Given the description of an element on the screen output the (x, y) to click on. 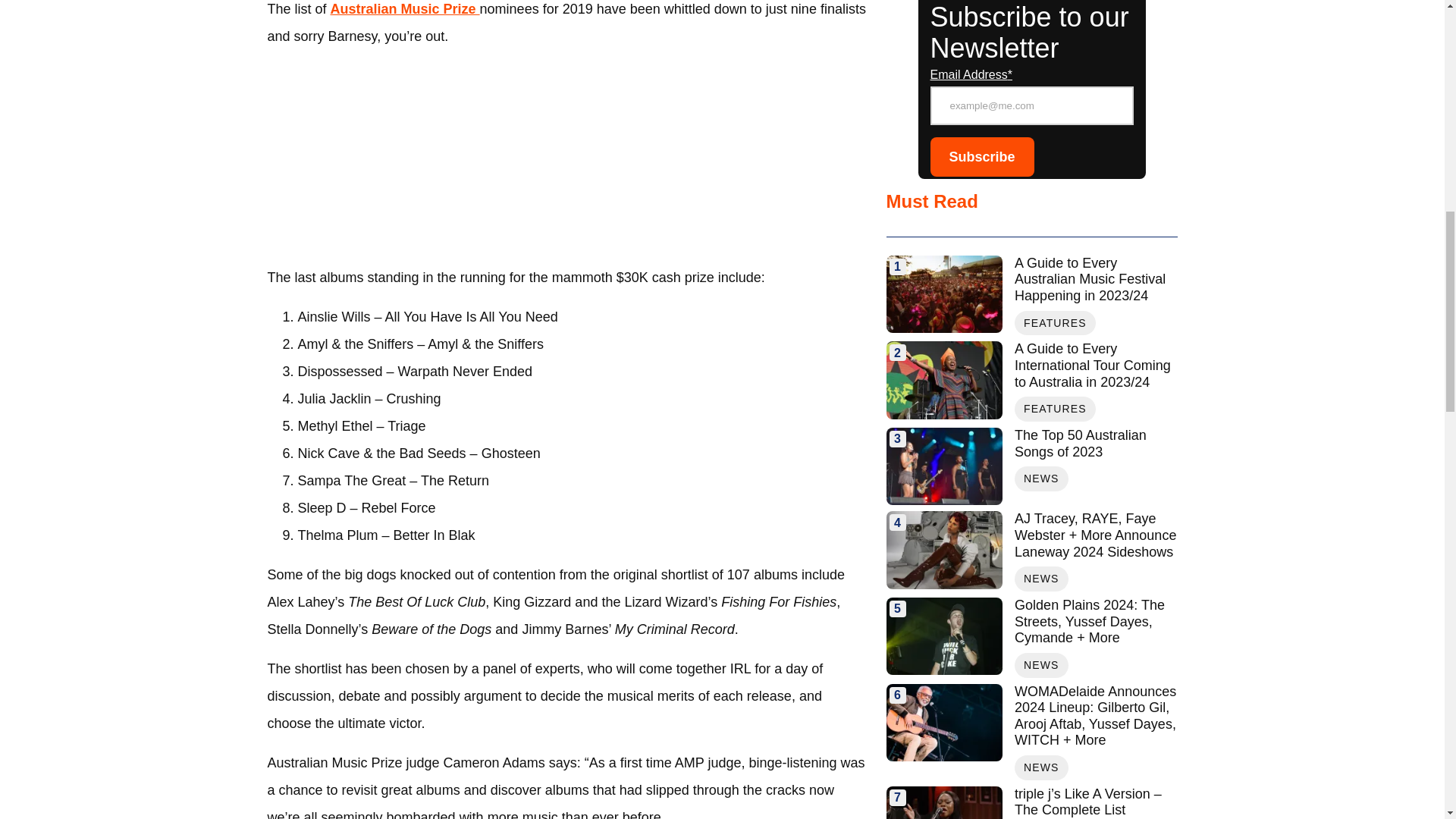
The Top 50 Australian Songs of 2023 (1095, 443)
3rd party ad content (566, 156)
Australian Music Prize (405, 8)
The Top 50 Australian Songs of 2023 (944, 466)
